Given the description of an element on the screen output the (x, y) to click on. 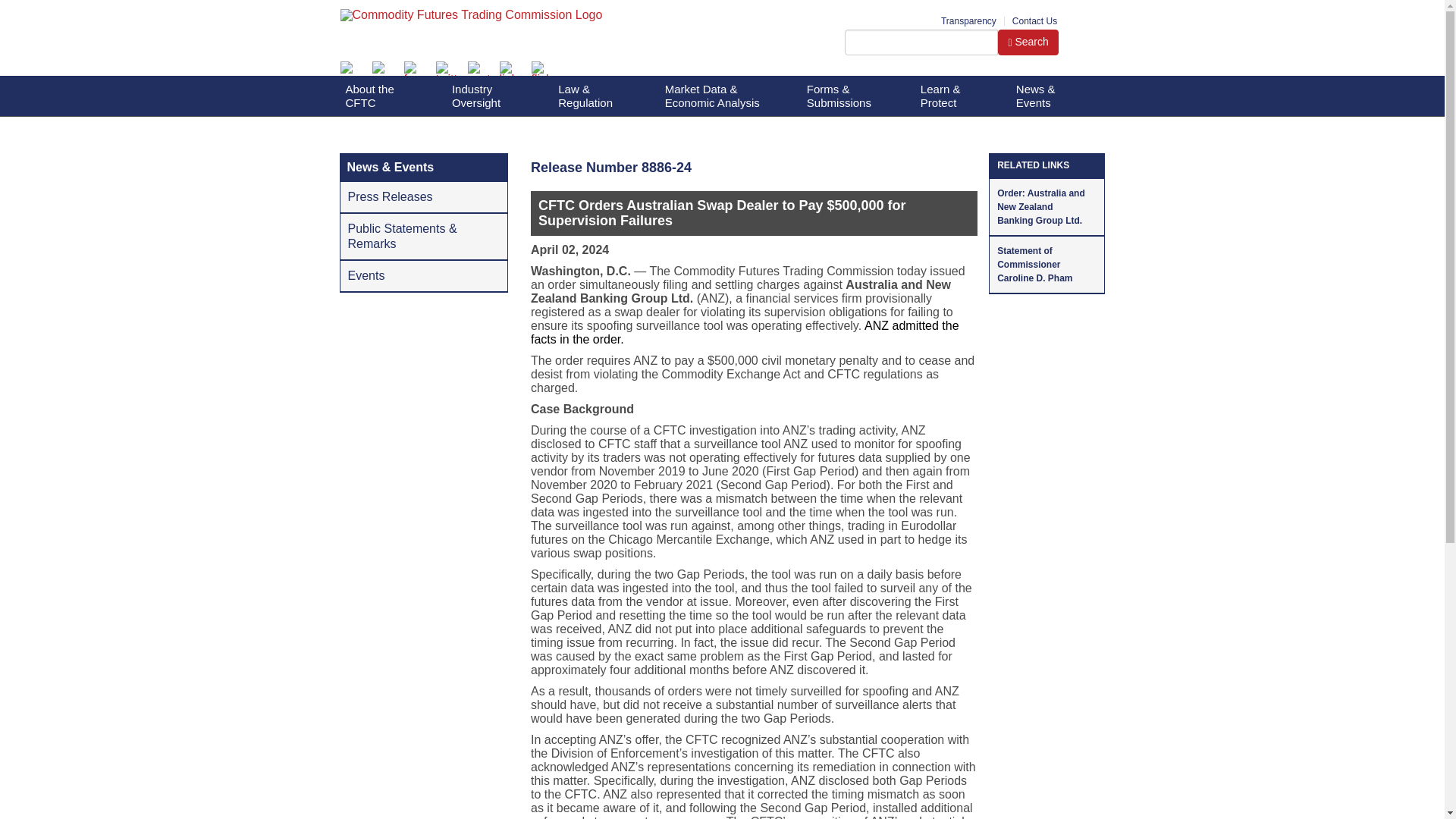
About the CFTC (381, 95)
Contact Us (1034, 20)
Home (551, 19)
Transparency (967, 20)
Industry Oversight (487, 95)
Search (1027, 42)
Search (921, 42)
